Given the description of an element on the screen output the (x, y) to click on. 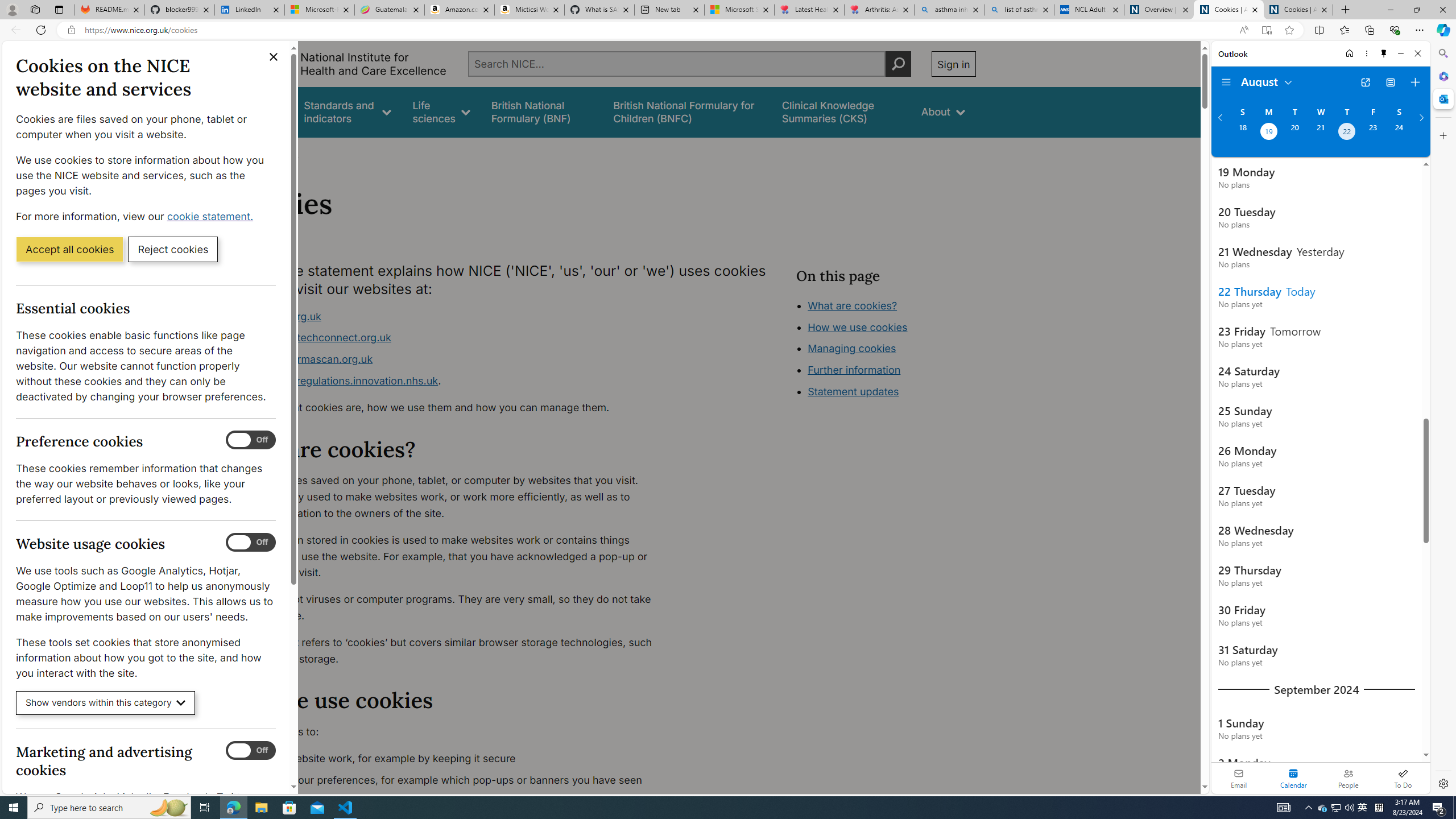
list of asthma inhalers uk - Search (1018, 9)
Tuesday, August 20, 2024.  (1294, 132)
www.digitalregulations.innovation.nhs.uk (338, 380)
www.ukpharmascan.org.uk (305, 359)
Friday, August 23, 2024.  (1372, 132)
cookie statement. (Opens in a new window) (211, 215)
About (283, 152)
View Switcher. Current view is Agenda view (1390, 82)
British National Formulary for Children (BNFC) (686, 111)
About (942, 111)
